Given the description of an element on the screen output the (x, y) to click on. 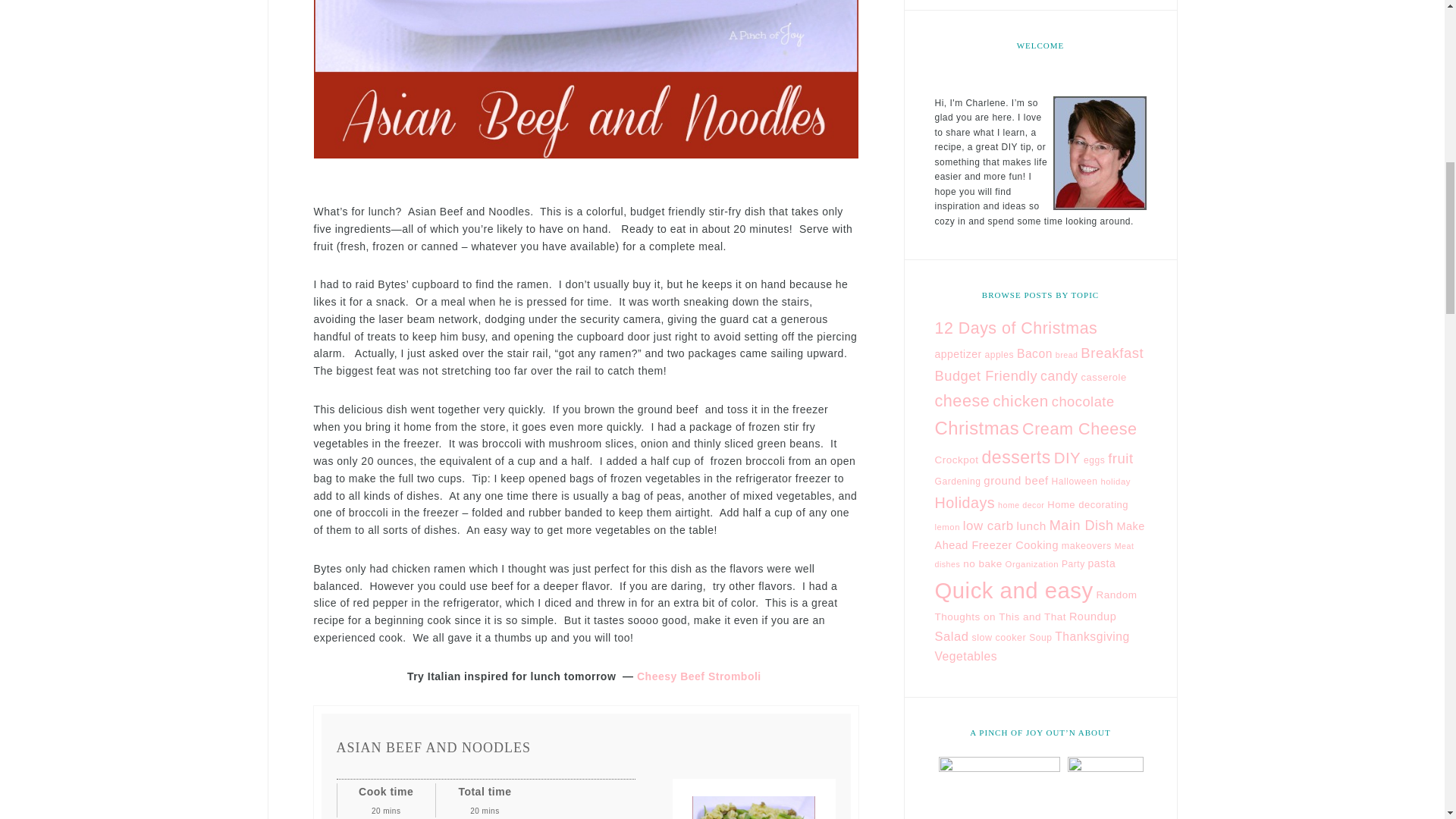
Cheesy Beef Stromboli  (700, 676)
